Given the description of an element on the screen output the (x, y) to click on. 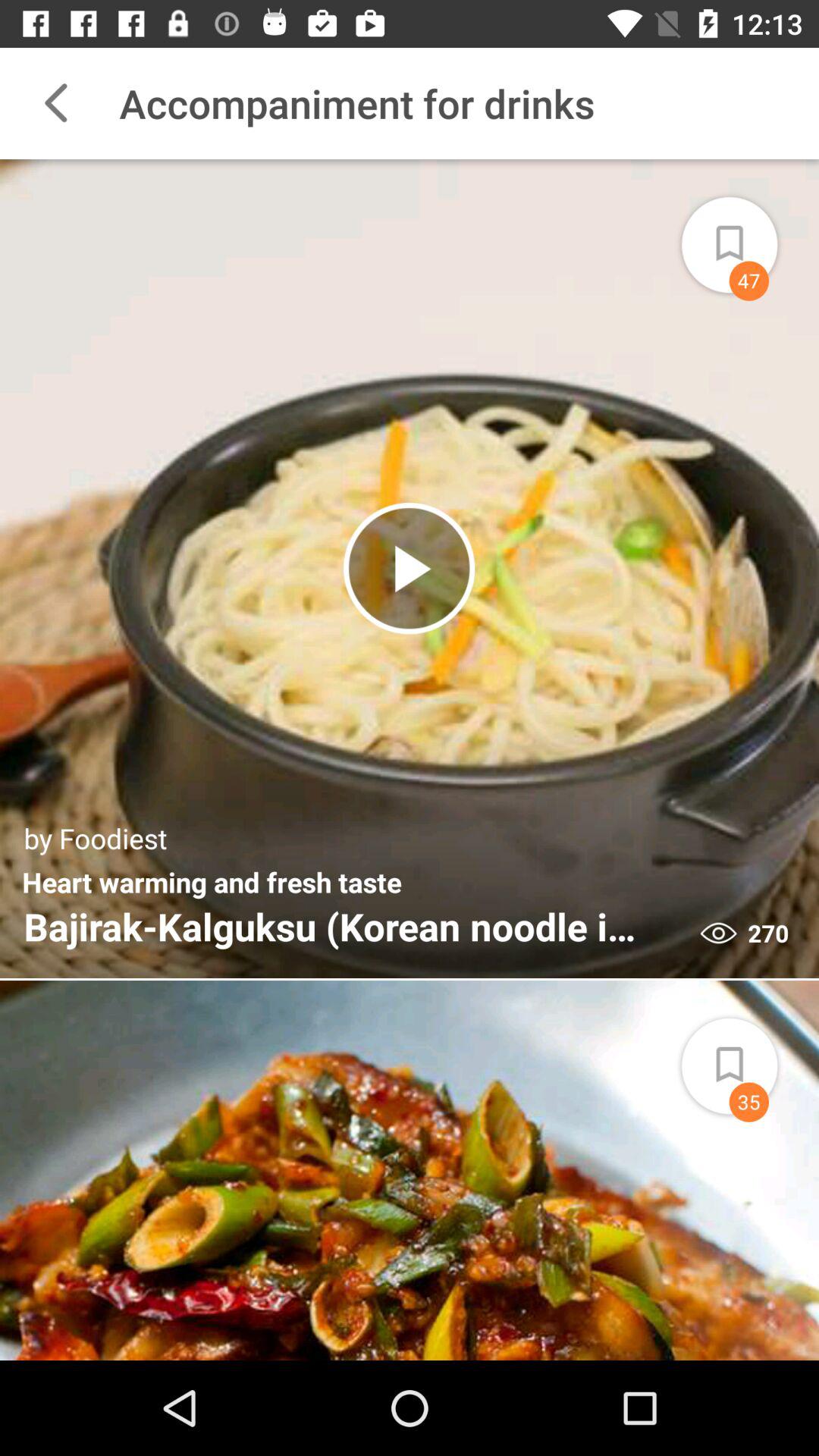
tap the icon next to accompaniment for drinks (55, 103)
